Given the description of an element on the screen output the (x, y) to click on. 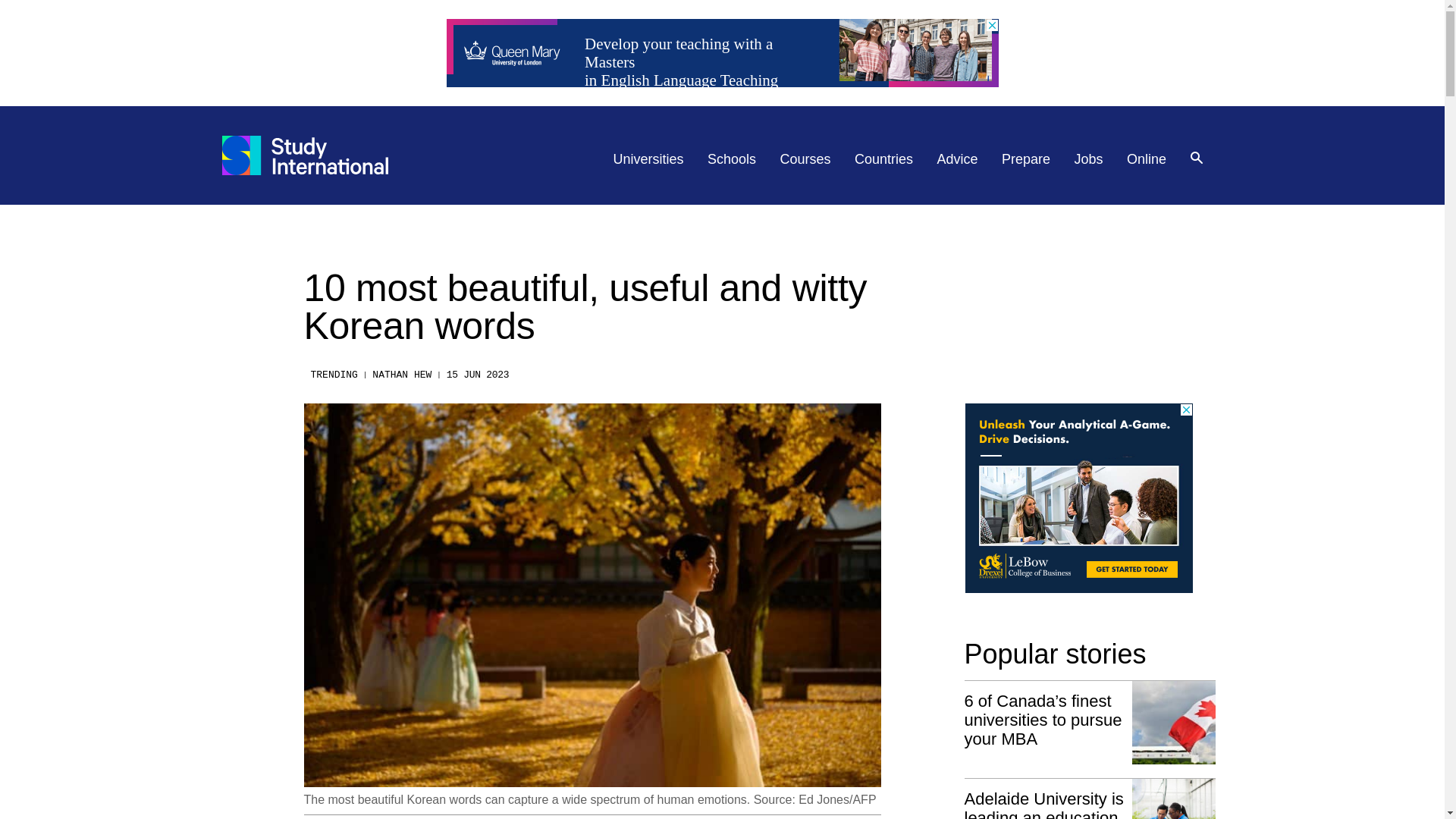
Courses (805, 159)
Jobs (1088, 159)
Schools (731, 159)
Advice (957, 159)
Online (1146, 159)
NATHAN HEW (401, 374)
3rd party ad content (1078, 497)
Universities (648, 159)
3rd party ad content (721, 52)
Countries (883, 159)
Prepare (1025, 159)
